Given the description of an element on the screen output the (x, y) to click on. 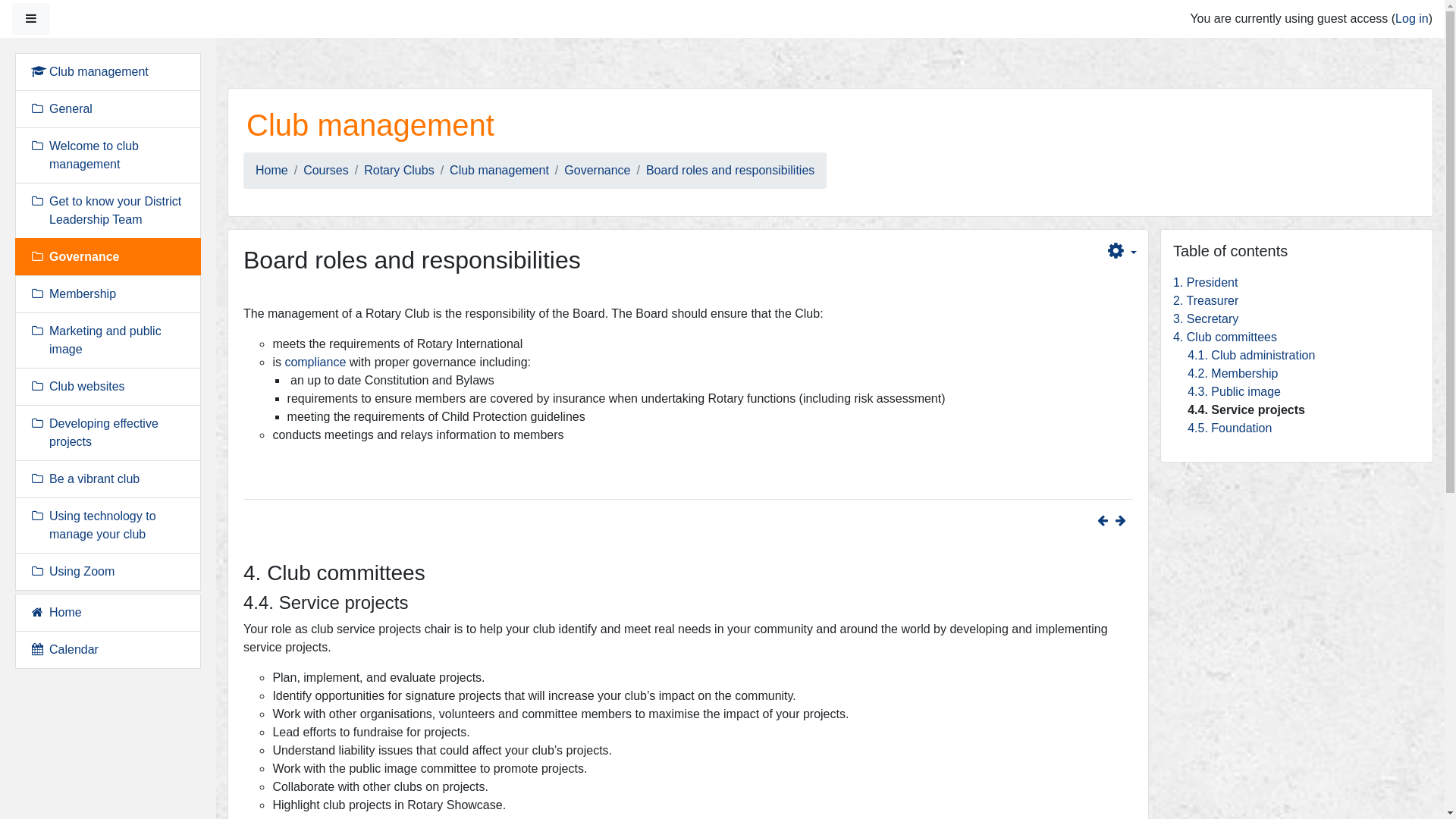
Developing effective projects Element type: text (107, 432)
Side panel Element type: text (31, 18)
Get to know your District Leadership Team Element type: text (107, 210)
Skip to main content Element type: text (215, 37)
Club management Element type: text (107, 72)
Next: 4.5. Foundation Element type: hover (1123, 520)
1. President Element type: text (1205, 282)
Board roles and responsibilities Element type: text (730, 169)
Marketing and public image Element type: text (107, 340)
4.5. Foundation Element type: text (1229, 427)
4.1. Club administration Element type: text (1250, 354)
Home Element type: text (271, 169)
Using Zoom Element type: text (107, 571)
Next: 4.5. Foundation Element type: hover (1120, 520)
Skip Table of contents Element type: text (1159, 228)
Club websites Element type: text (107, 386)
4. Club committees Element type: text (1225, 336)
Governance Element type: text (597, 169)
General Element type: text (107, 109)
Using technology to manage your club Element type: text (107, 525)
Be a vibrant club Element type: text (107, 479)
Log in Element type: text (1411, 18)
Previous: 4.3. Public image Element type: hover (1102, 520)
Governance Element type: text (107, 257)
Rotary Clubs Element type: text (398, 169)
Courses Element type: text (325, 169)
4.3. Public image Element type: text (1233, 391)
2. Treasurer Element type: text (1205, 300)
Calendar Element type: text (107, 649)
3. Secretary Element type: text (1205, 318)
Actions menu Element type: hover (1115, 250)
Home Element type: text (107, 612)
compliance Element type: text (314, 361)
Membership Element type: text (107, 294)
4.2. Membership Element type: text (1232, 373)
Welcome to club management Element type: text (107, 155)
Club management Element type: text (499, 169)
Previous: 4.3. Public image Element type: hover (1105, 520)
